Given the description of an element on the screen output the (x, y) to click on. 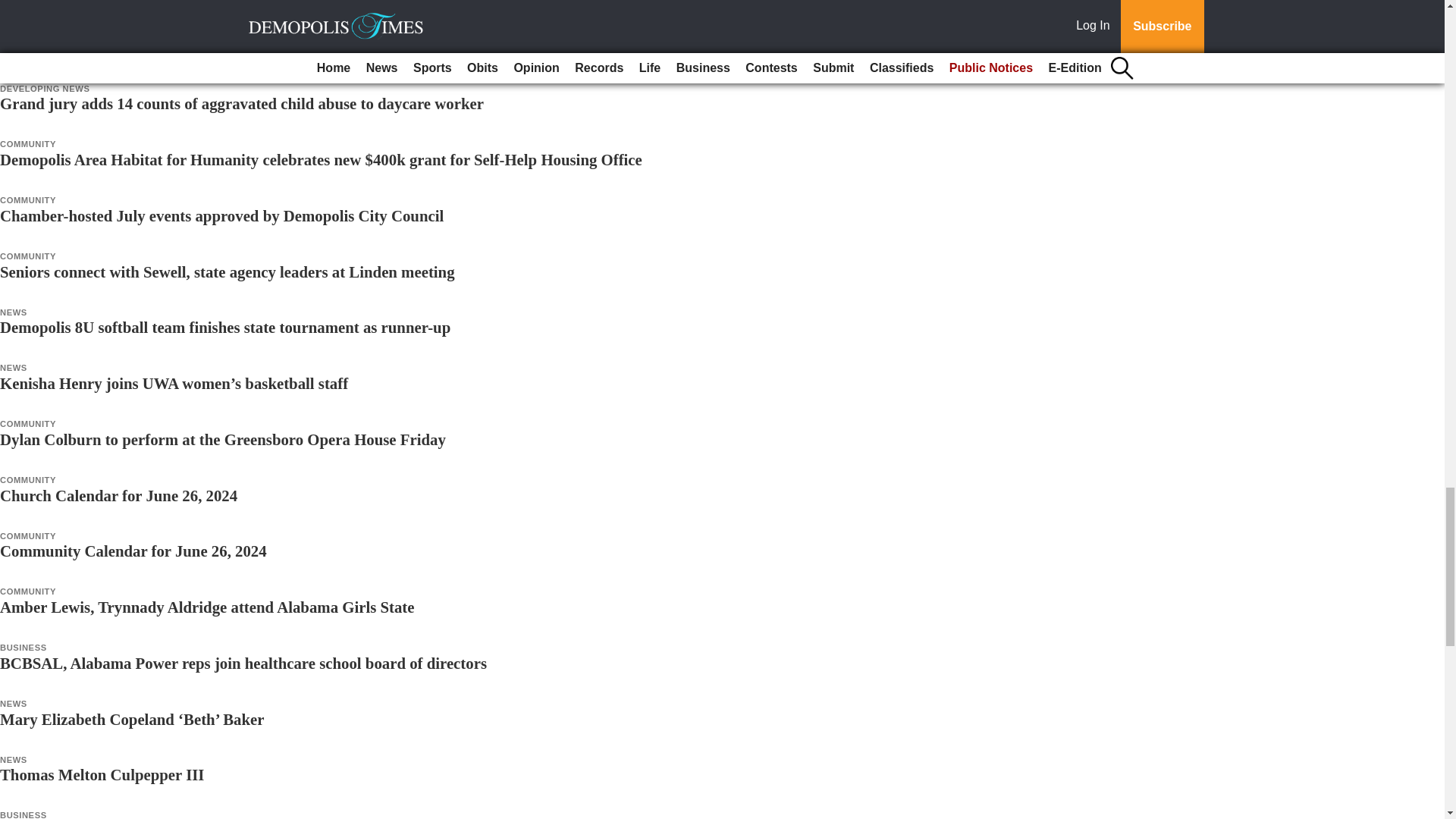
Community Calendar for June 26, 2024 (133, 550)
Amber Lewis, Trynnady Aldridge attend Alabama Girls State (207, 606)
Church Calendar for June 26, 2024 (118, 495)
